Given the description of an element on the screen output the (x, y) to click on. 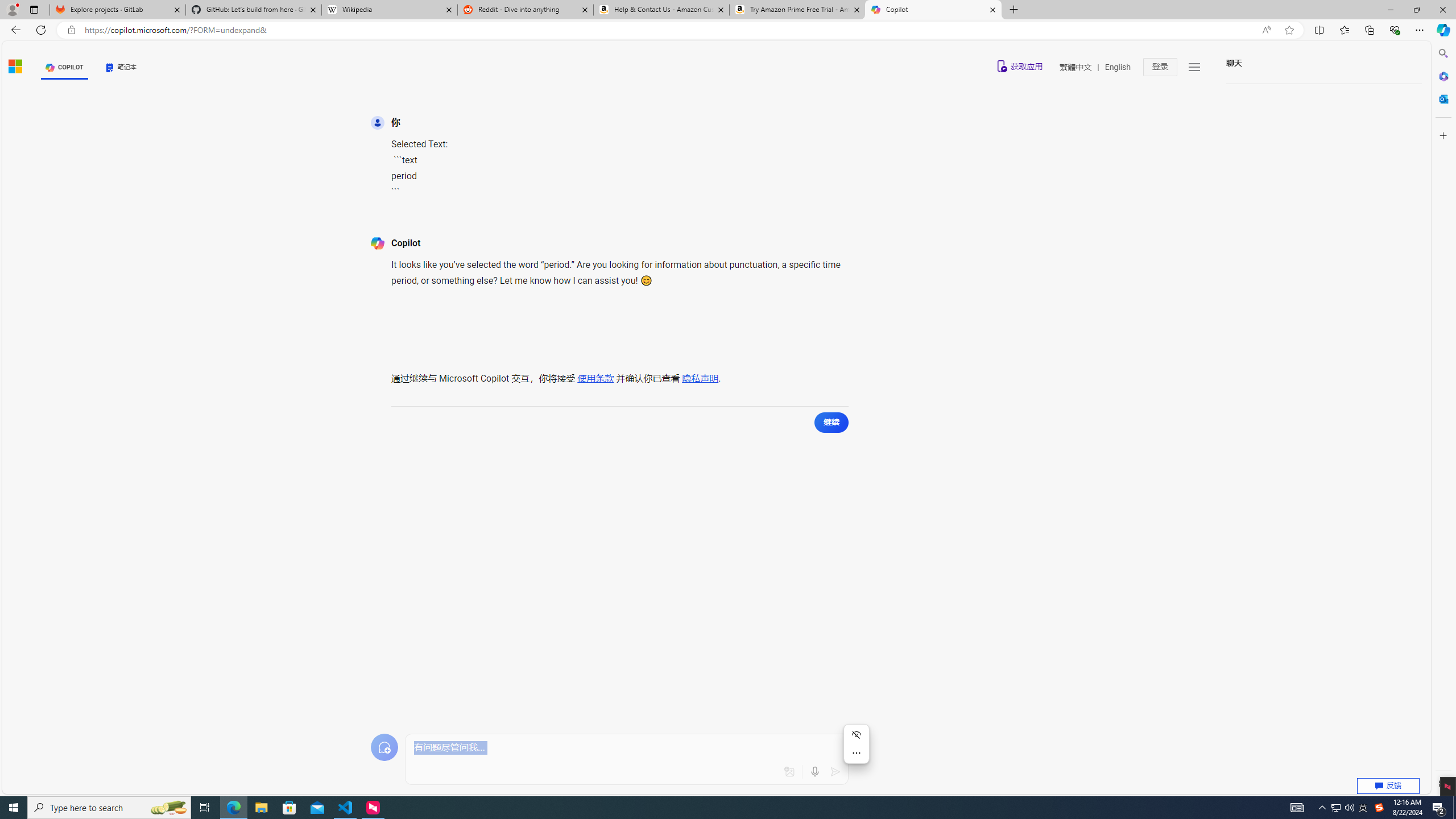
Hide menu (856, 734)
English (1118, 67)
Mini menu on text selection (856, 743)
